Given the description of an element on the screen output the (x, y) to click on. 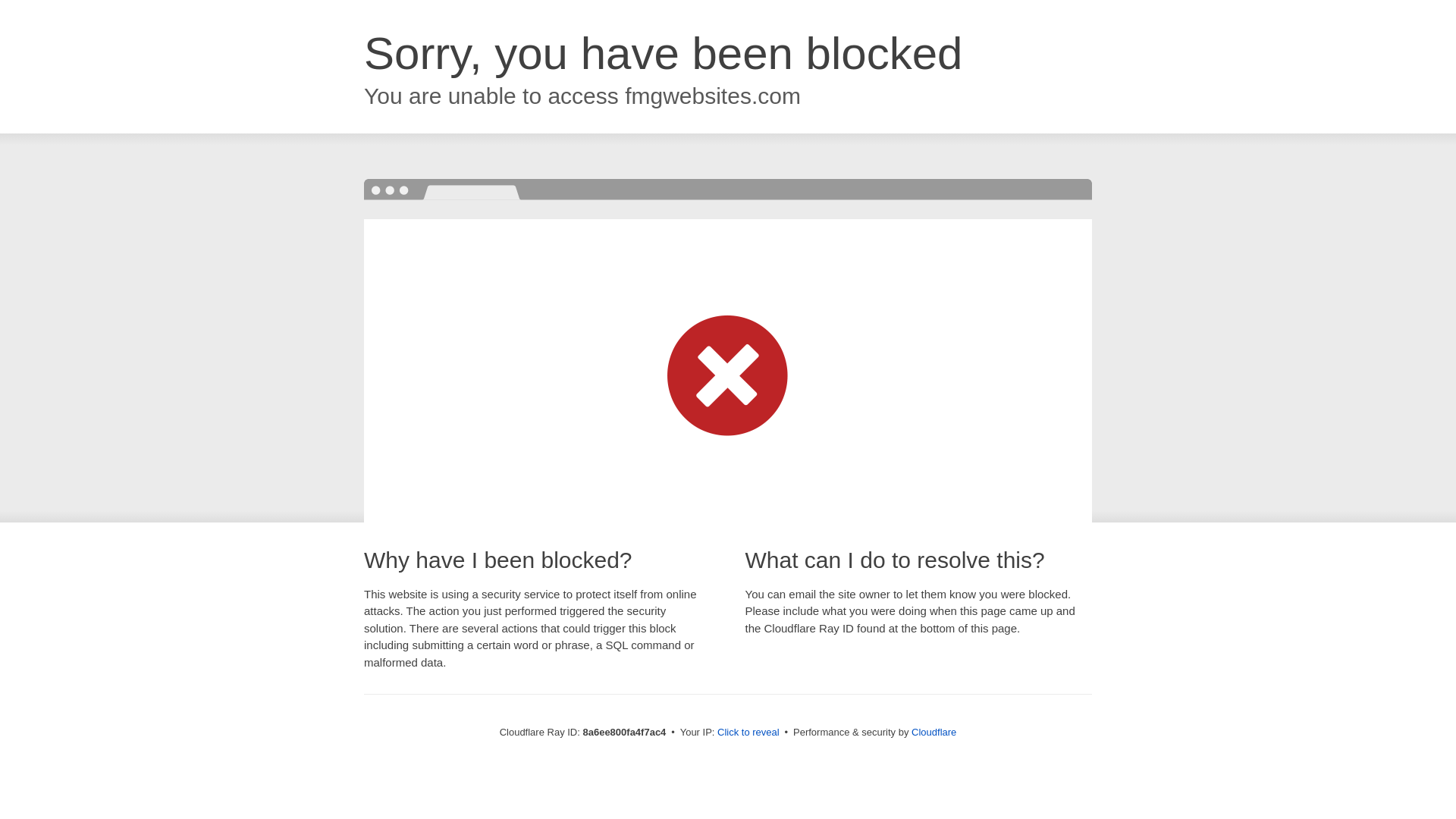
Cloudflare (933, 731)
Click to reveal (747, 732)
